Given the description of an element on the screen output the (x, y) to click on. 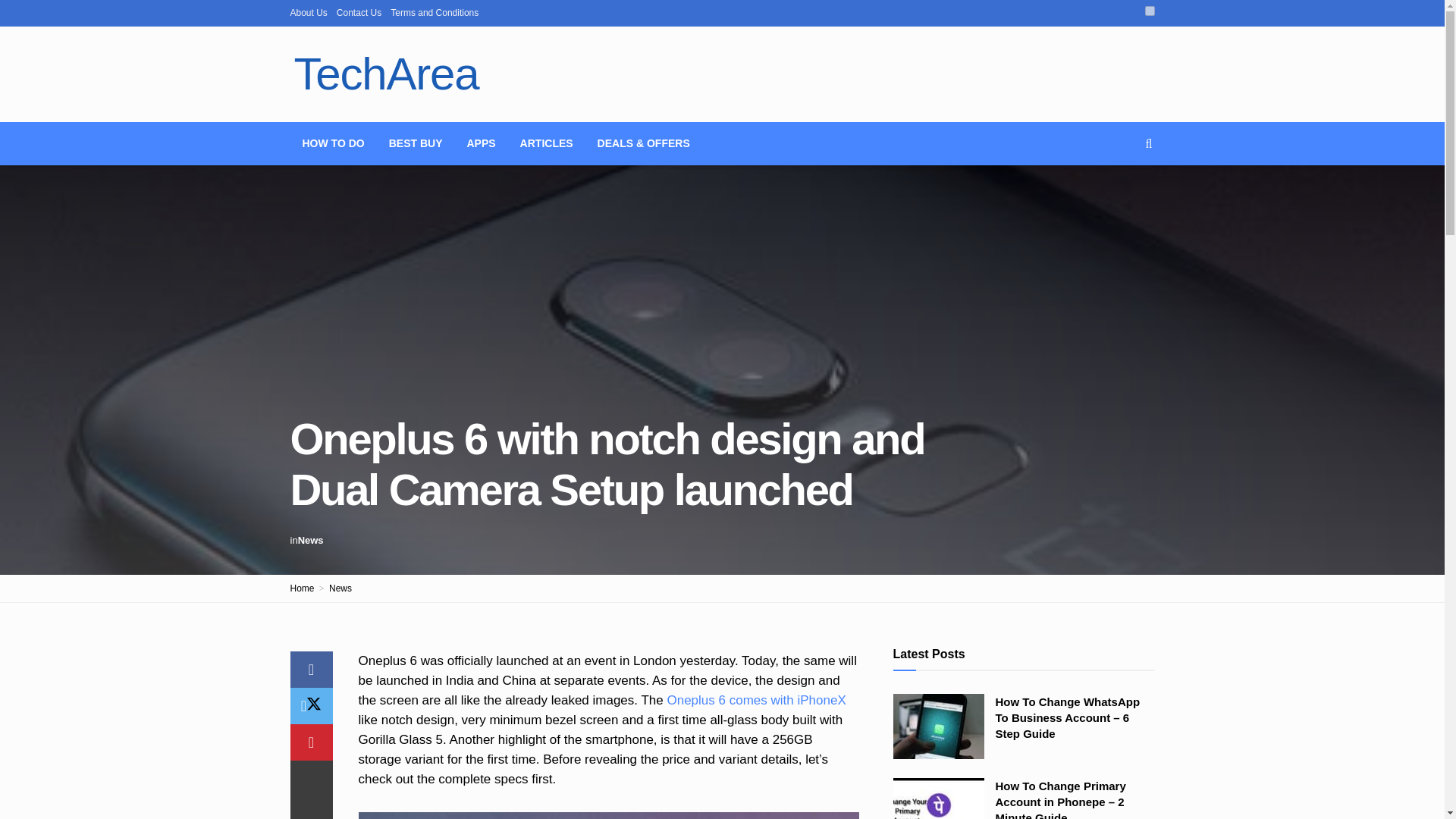
About Us (307, 12)
on (1149, 10)
APPS (480, 143)
ARTICLES (546, 143)
Terms and Conditions (434, 12)
Contact Us (358, 12)
BEST BUY (415, 143)
TechArea (385, 73)
HOW TO DO (332, 143)
